Given the description of an element on the screen output the (x, y) to click on. 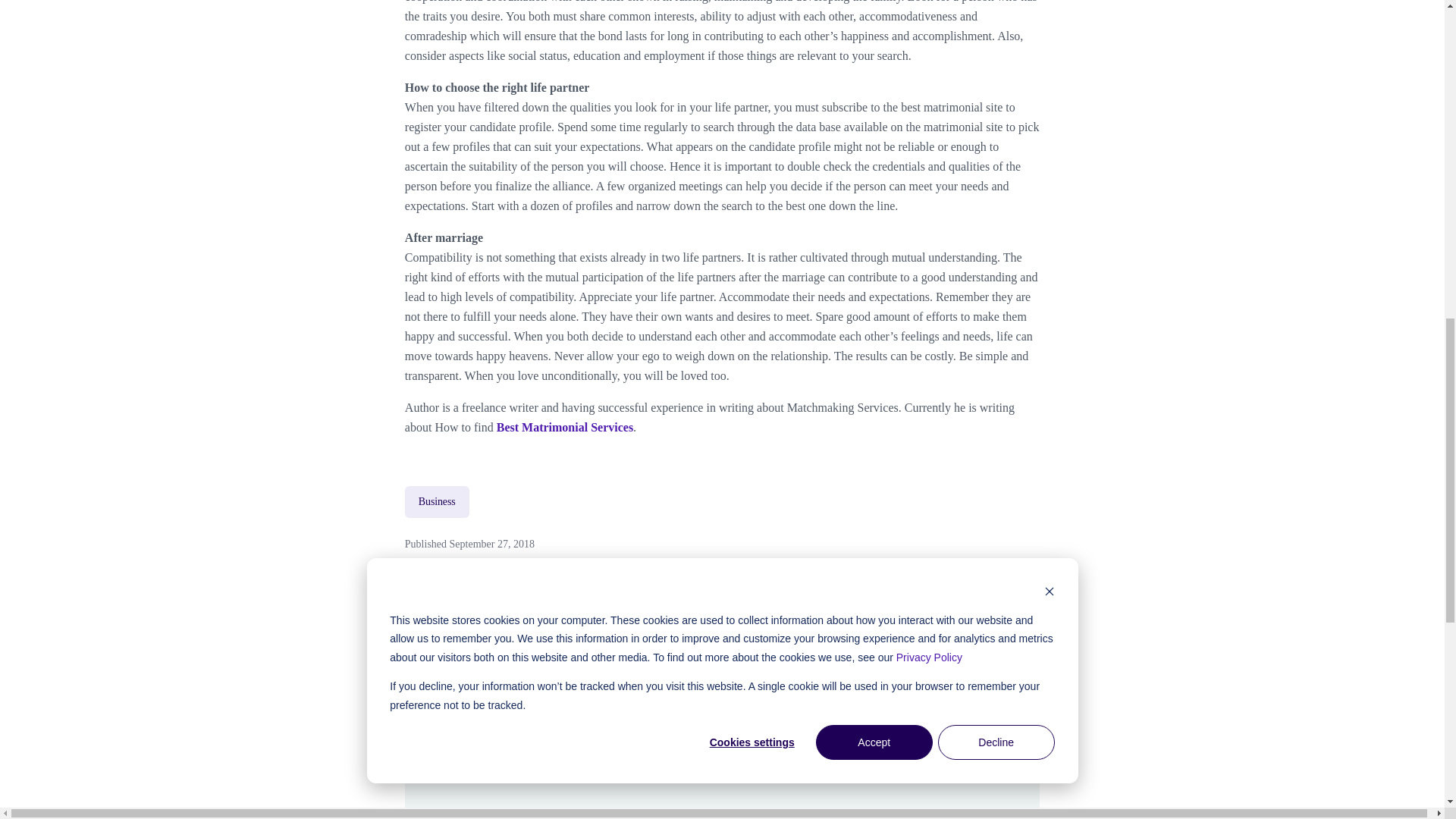
Twitter (965, 622)
abhimanyu-singh (557, 760)
Facebook (925, 622)
LinkedIn (1005, 622)
